Given the description of an element on the screen output the (x, y) to click on. 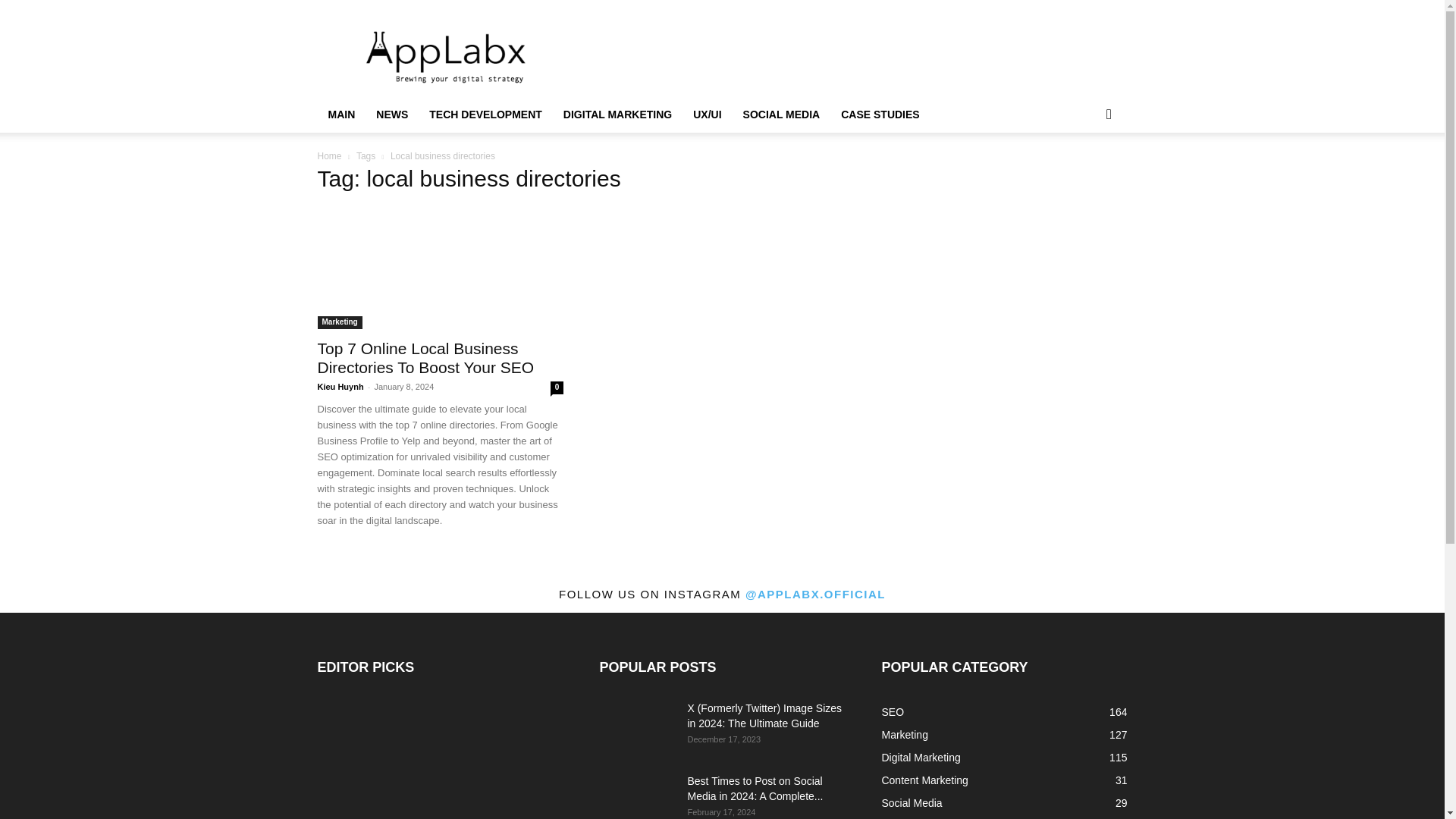
AppLabx - Digital Marketing and Web Agency (445, 55)
